Given the description of an element on the screen output the (x, y) to click on. 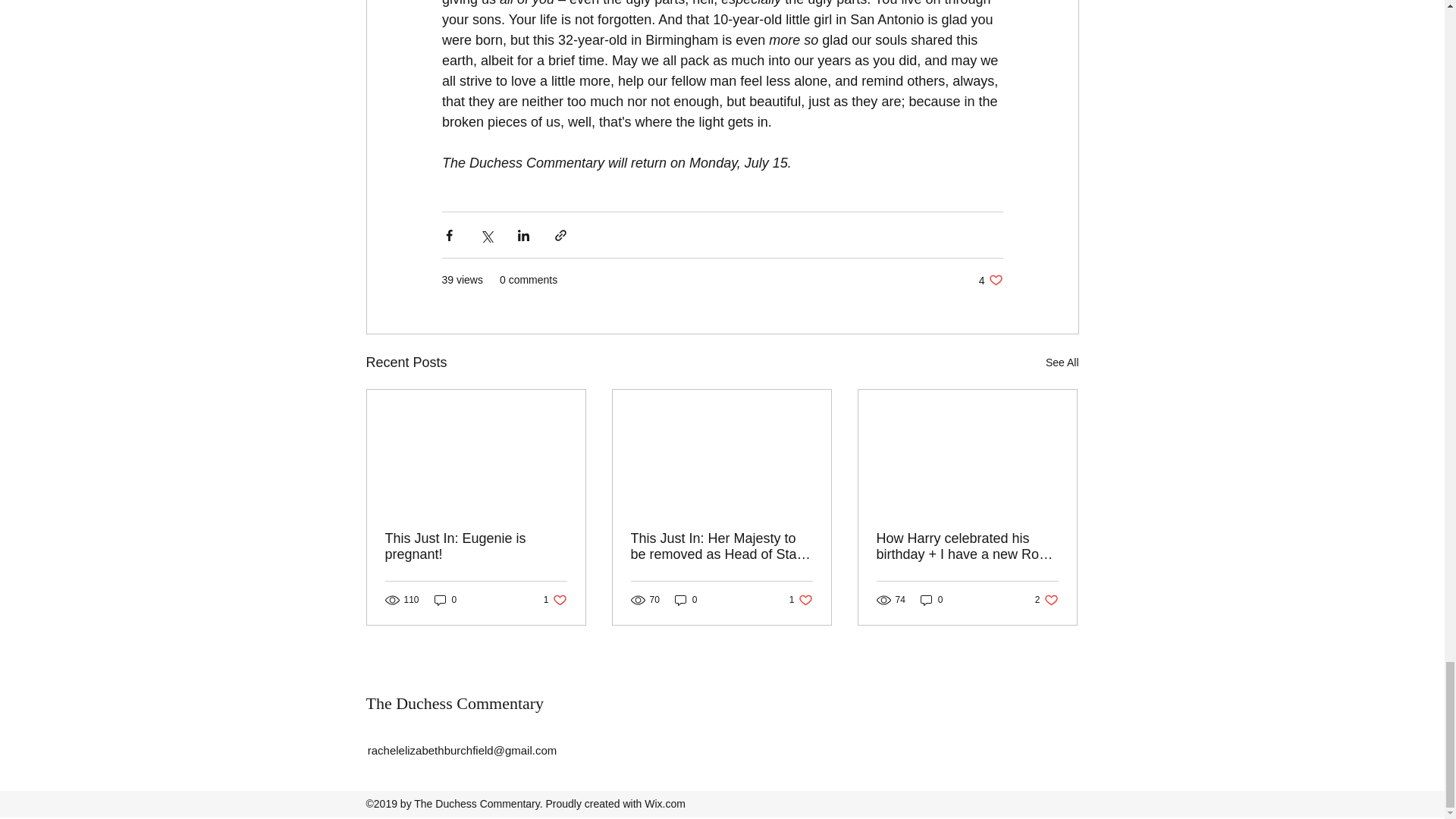
0 (800, 599)
0 (445, 599)
See All (990, 279)
0 (685, 599)
This Just In: Eugenie is pregnant! (1061, 362)
